Given the description of an element on the screen output the (x, y) to click on. 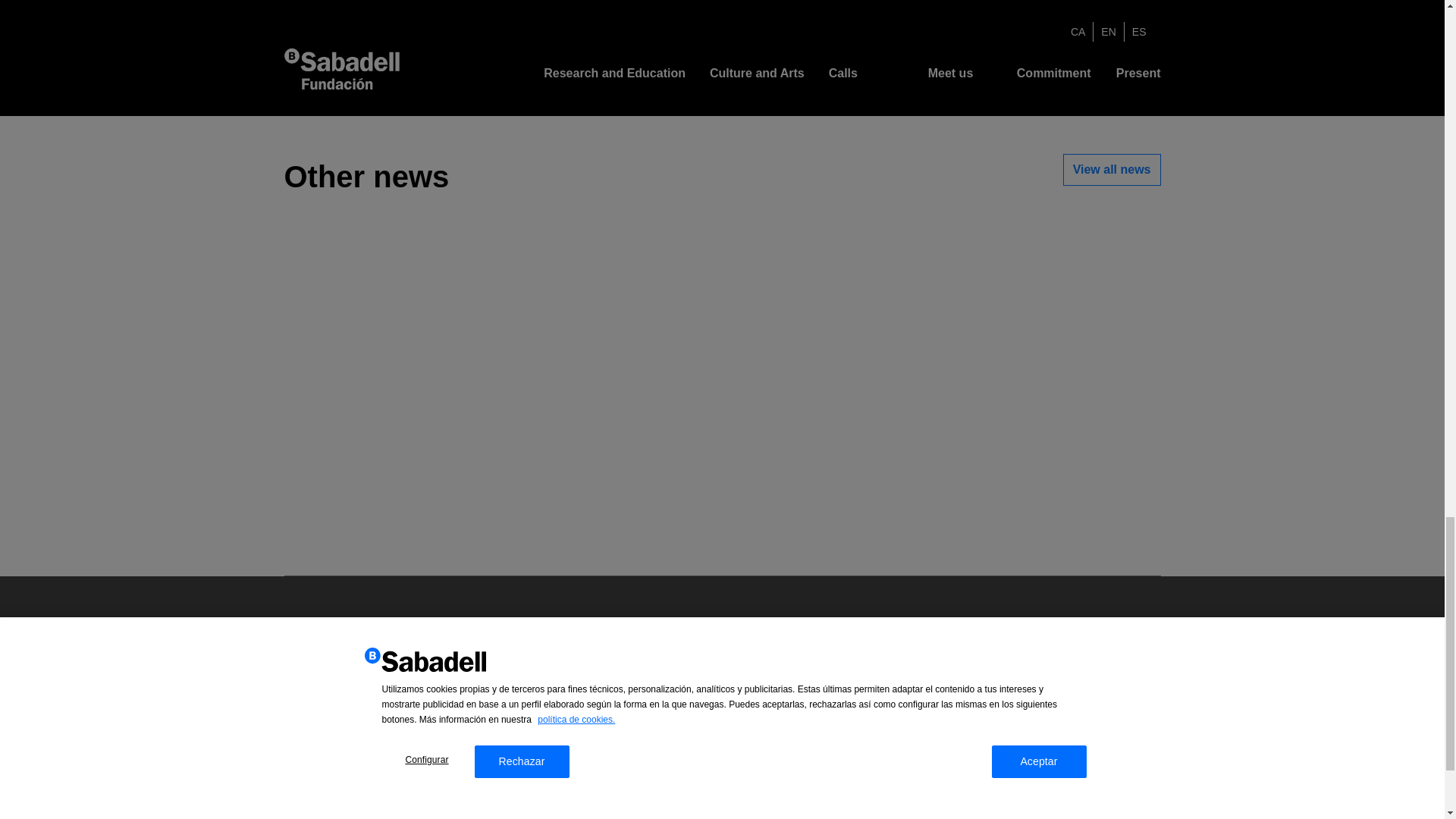
Resumen Bienal Ciudad y Ciencia 2023 (721, 56)
